Given the description of an element on the screen output the (x, y) to click on. 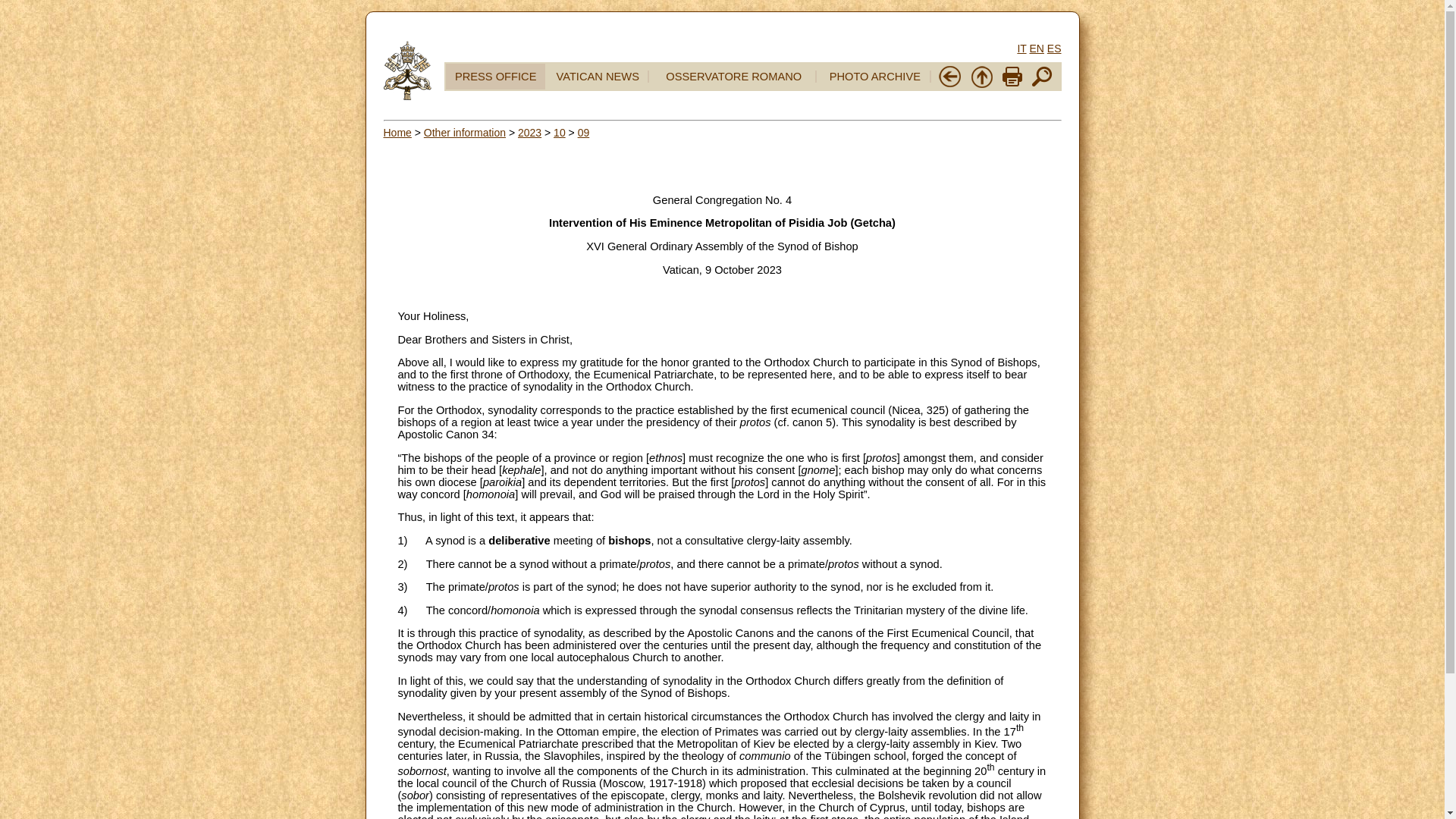
10 (559, 132)
ES (1053, 48)
EN (1036, 48)
Other information (464, 132)
Home (398, 132)
VATICAN NEWS (597, 76)
Search (1041, 84)
09 (583, 132)
PRESS OFFICE (495, 76)
Print (1012, 76)
Top (981, 76)
OSSERVATORE ROMANO (733, 76)
PHOTO ARCHIVE (874, 76)
Back (949, 76)
2023 (529, 132)
